Given the description of an element on the screen output the (x, y) to click on. 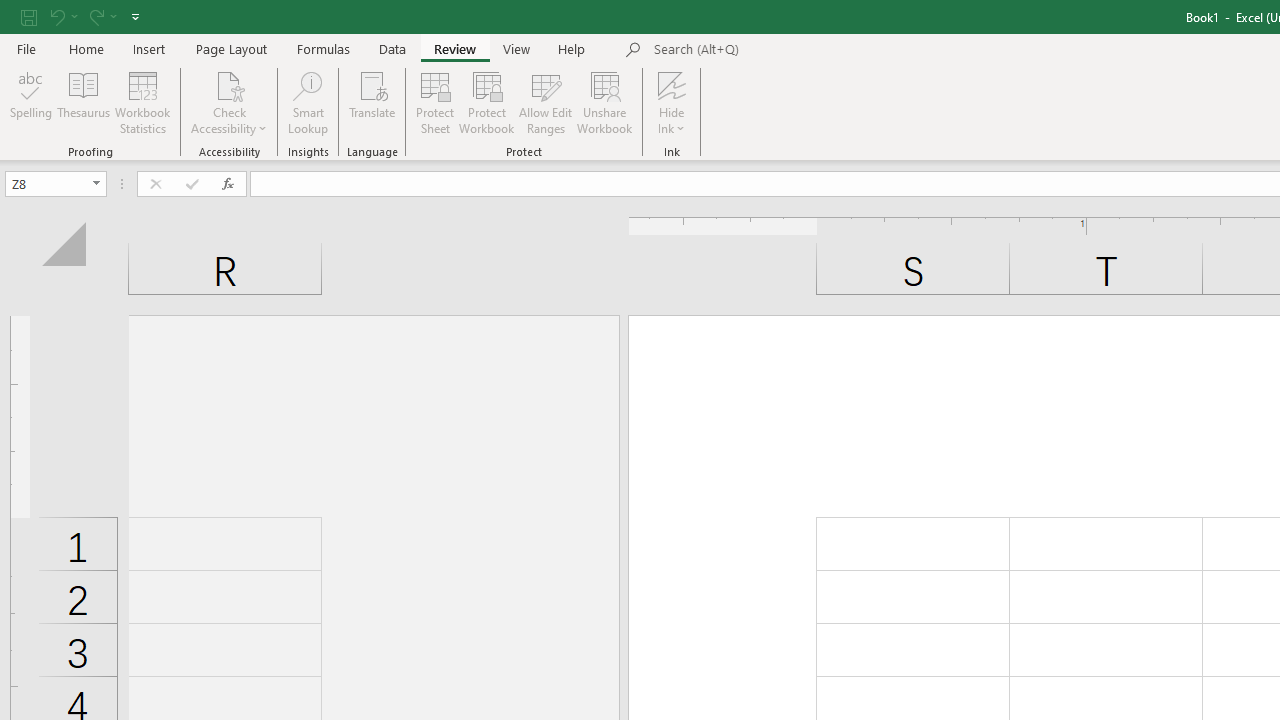
Protect Sheet... (434, 102)
Thesaurus... (83, 102)
Check Accessibility (229, 84)
